Given the description of an element on the screen output the (x, y) to click on. 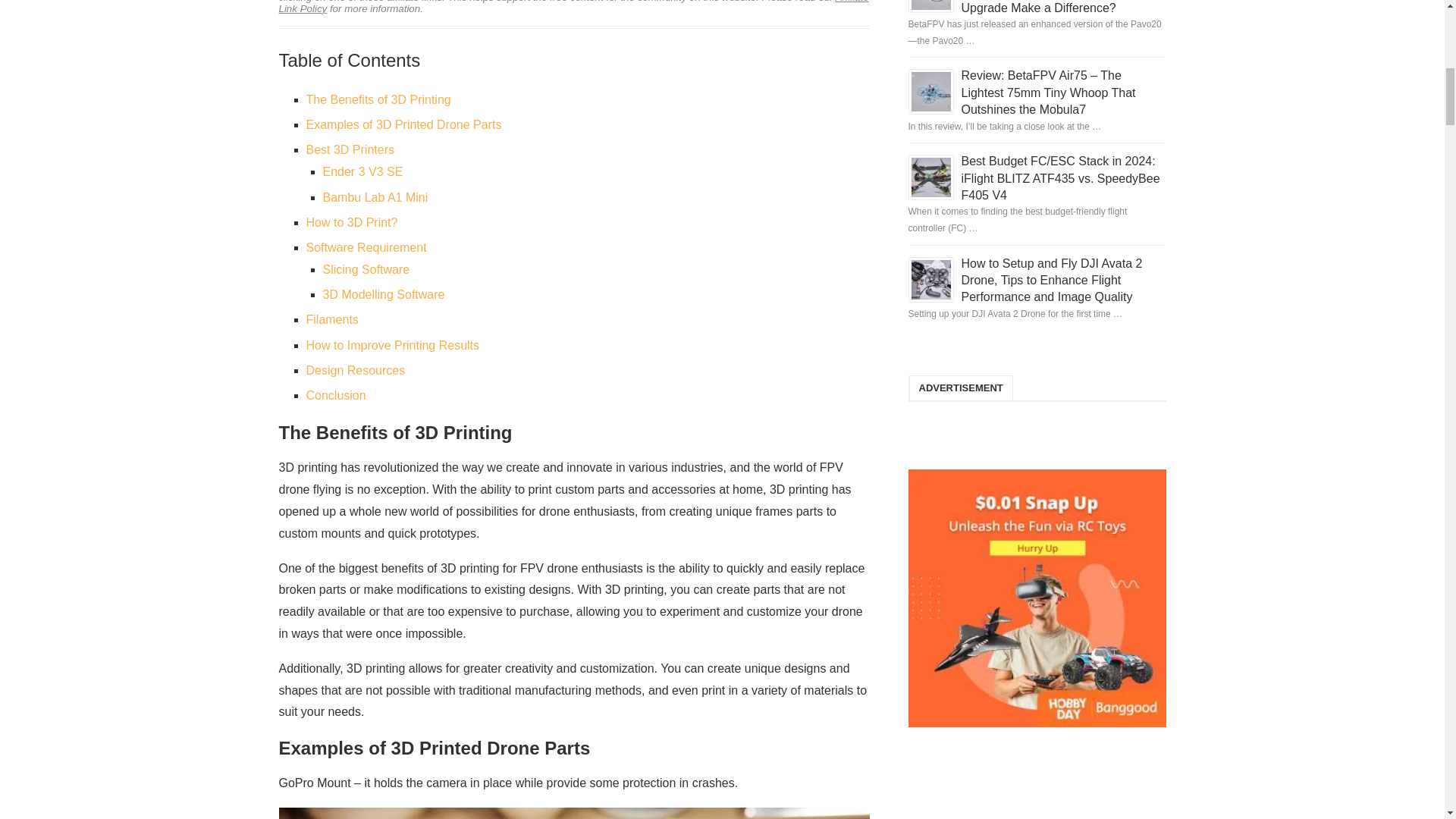
Best 3D Printers (349, 149)
Design Resources (355, 369)
Ender 3 V3 SE (363, 171)
How to 3D Print? (351, 222)
Filaments (331, 318)
How to Improve Printing Results (392, 345)
Software Requirement (365, 246)
Slicing Software (366, 269)
Bambu Lab A1 Mini (375, 196)
The Benefits of 3D Printing (378, 99)
